Given the description of an element on the screen output the (x, y) to click on. 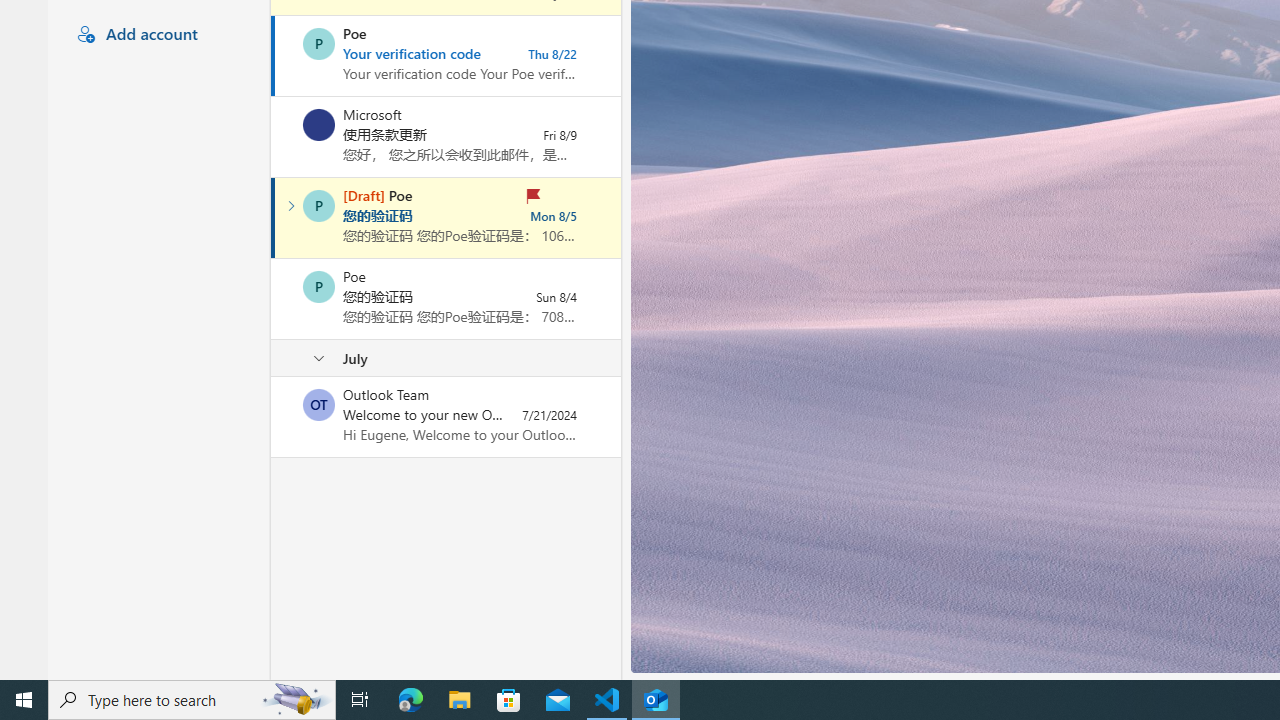
Mark as read (273, 217)
Expand conversation (291, 205)
